Given the description of an element on the screen output the (x, y) to click on. 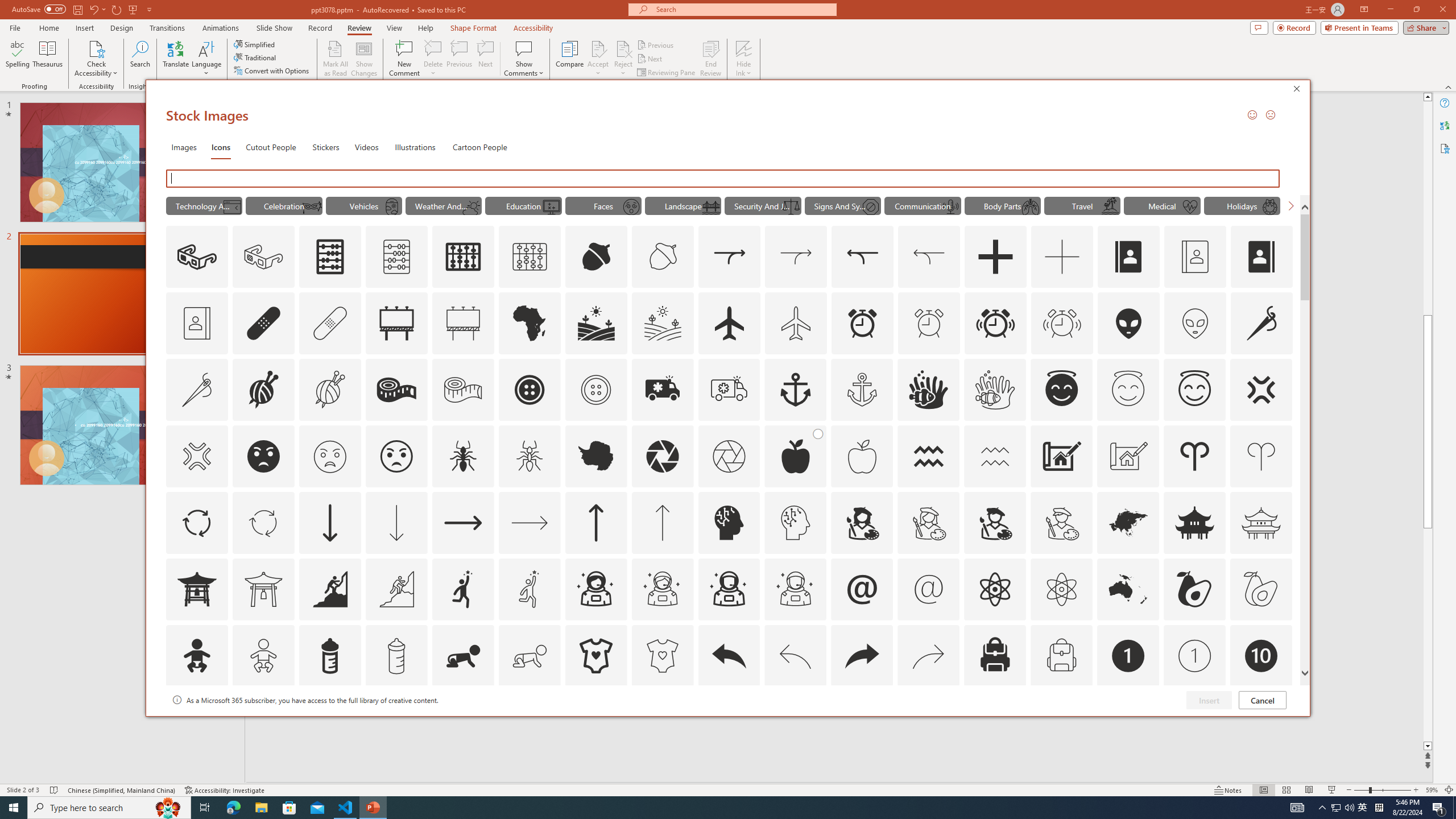
"Holidays" Icons. (1241, 205)
AutomationID: Icons_Architecture_M (1128, 455)
AutomationID: Icons_AlarmClock (863, 323)
AutomationID: Icons_ArrowRight_M (529, 522)
AutomationID: Icons_BabyCrawling_M (529, 655)
Send a Smile (1251, 114)
AutomationID: Icons_Atom (995, 588)
AutomationID: Icons_AstronautMale_M (795, 588)
AutomationID: Icons_Acquisition_LTR_M (796, 256)
AutomationID: Icons_Badge9 (1194, 721)
AutomationID: Icons_AddressBook_LTR_M (1194, 256)
